Given the description of an element on the screen output the (x, y) to click on. 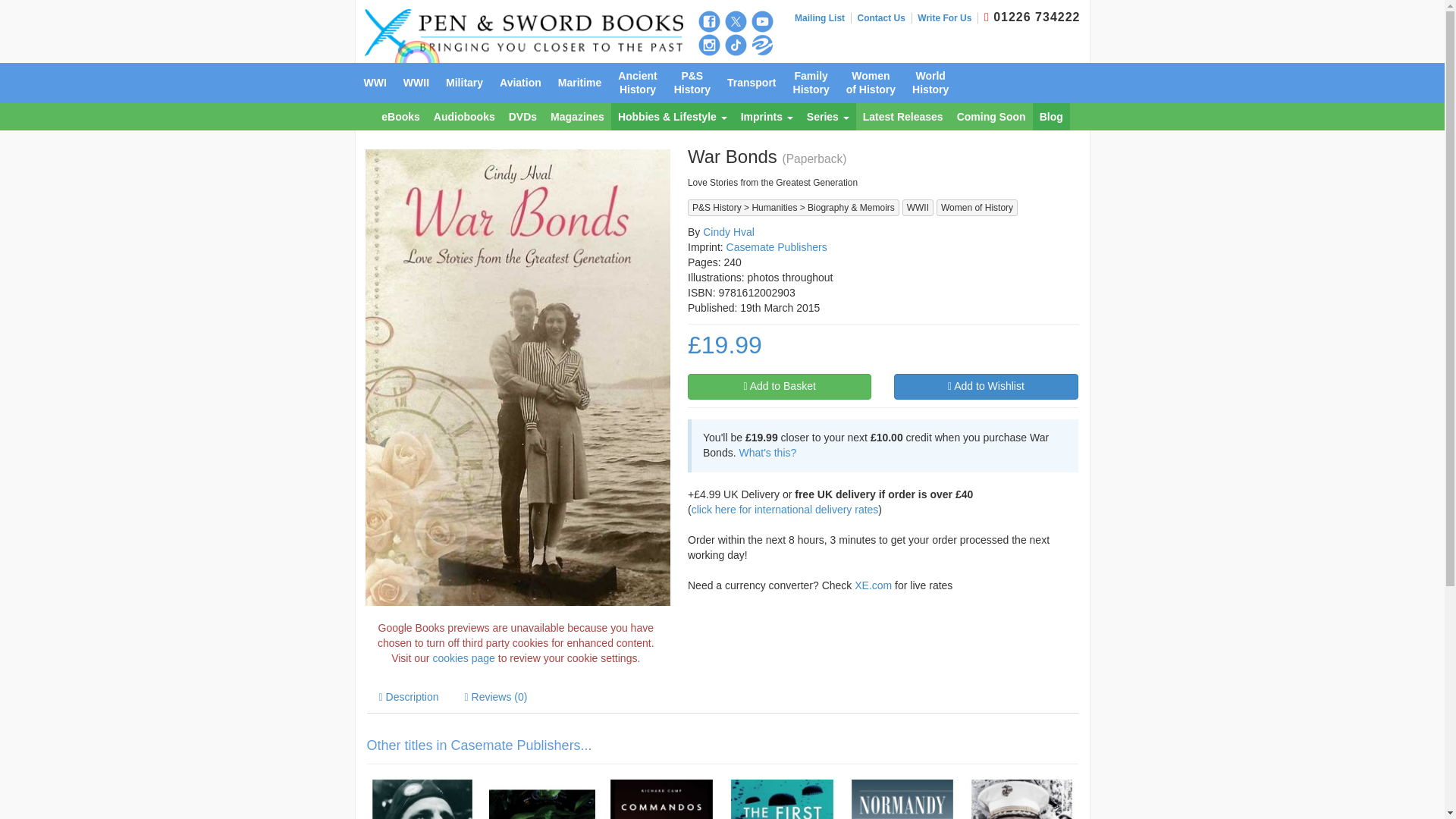
TikTok (735, 45)
Write For Us (947, 18)
Facebook (708, 21)
Instagram (708, 45)
Mailing List (822, 18)
The First Bridge Too Far (781, 799)
Contact Us (884, 18)
Vietnam War Portraits (541, 799)
X (735, 21)
Three War Marine Hero (1021, 799)
YouTube (762, 21)
Order Hotline (987, 17)
Jump Commander (421, 799)
NetGalley (762, 45)
Normandy (902, 799)
